Given the description of an element on the screen output the (x, y) to click on. 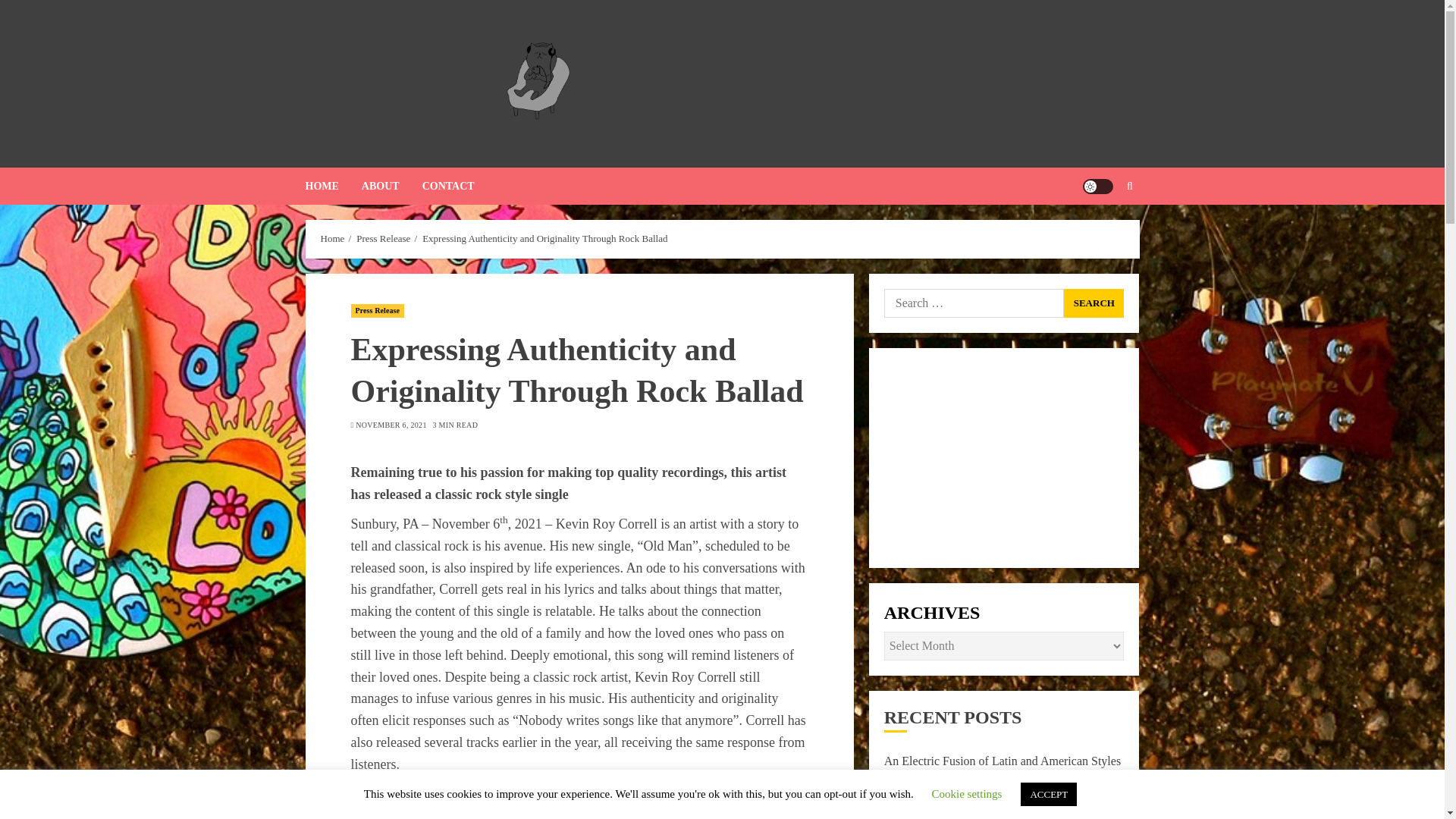
Search (1094, 303)
Press Release (377, 310)
Home (331, 238)
HOME (332, 185)
Advertisement (1003, 457)
Search (1099, 231)
Search (1094, 303)
Expressing Authenticity and Originality Through Rock Ballad (544, 238)
CONTACT (448, 185)
ABOUT (391, 185)
NOVEMBER 6, 2021 (390, 425)
Press Release (383, 238)
Search (1094, 303)
INDIE MUSIC NEWS (761, 106)
